Given the description of an element on the screen output the (x, y) to click on. 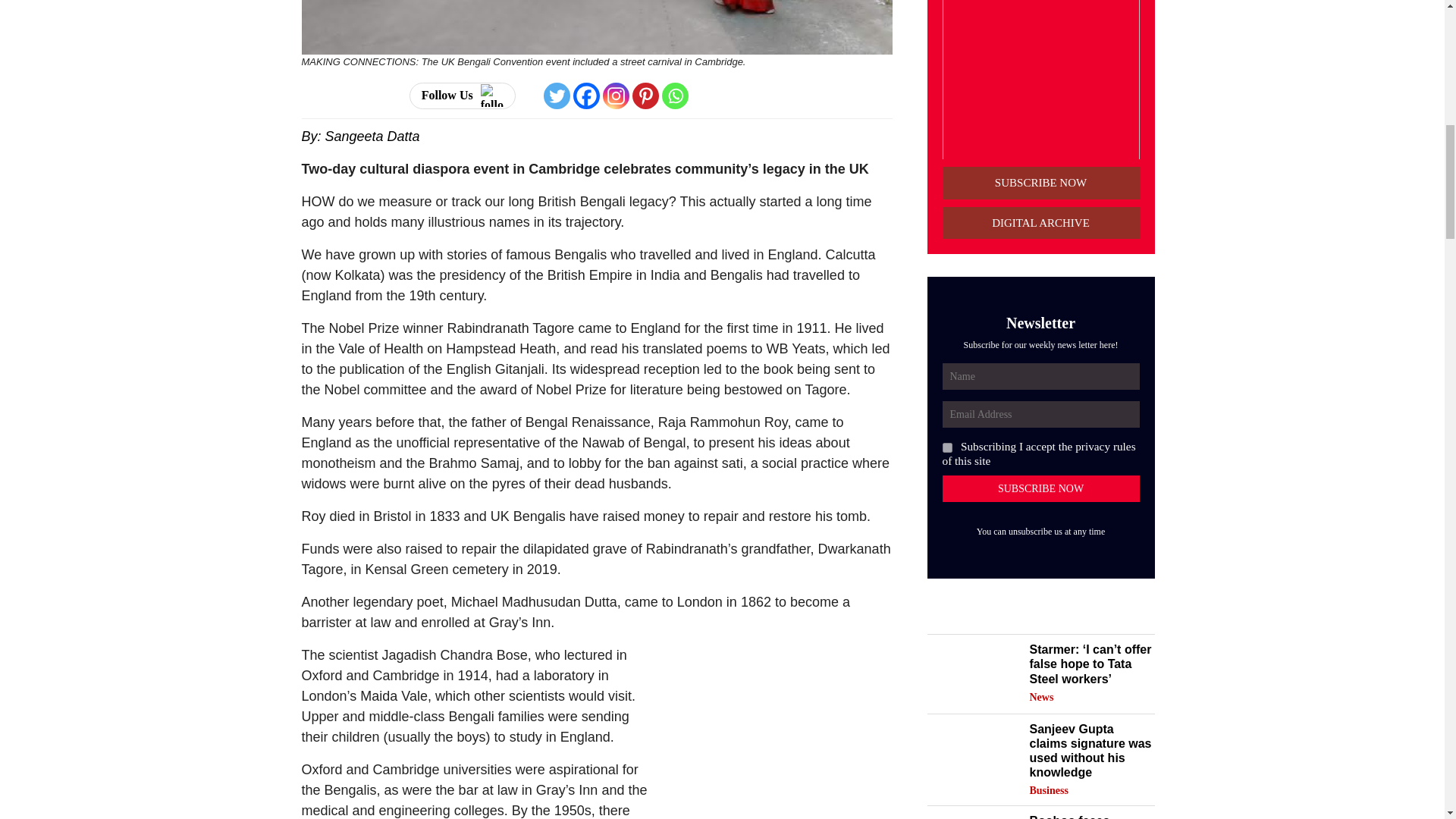
Pinterest (645, 95)
on (947, 447)
Subscribe Now (1040, 488)
Instagram (615, 95)
Whatsapp (675, 95)
Facebook (586, 95)
Twitter (556, 95)
